Given the description of an element on the screen output the (x, y) to click on. 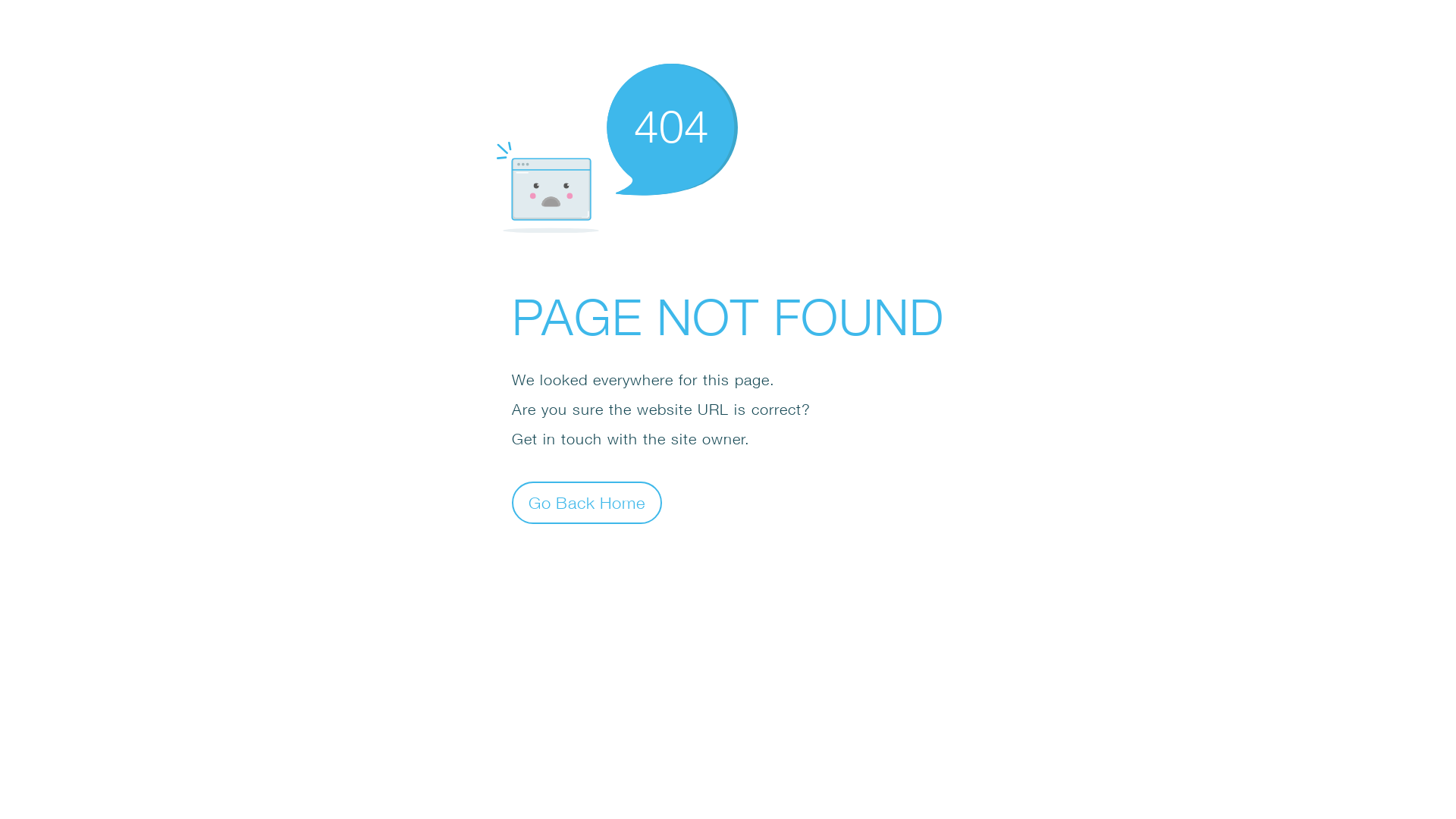
Go Back Home Element type: text (586, 502)
